Given the description of an element on the screen output the (x, y) to click on. 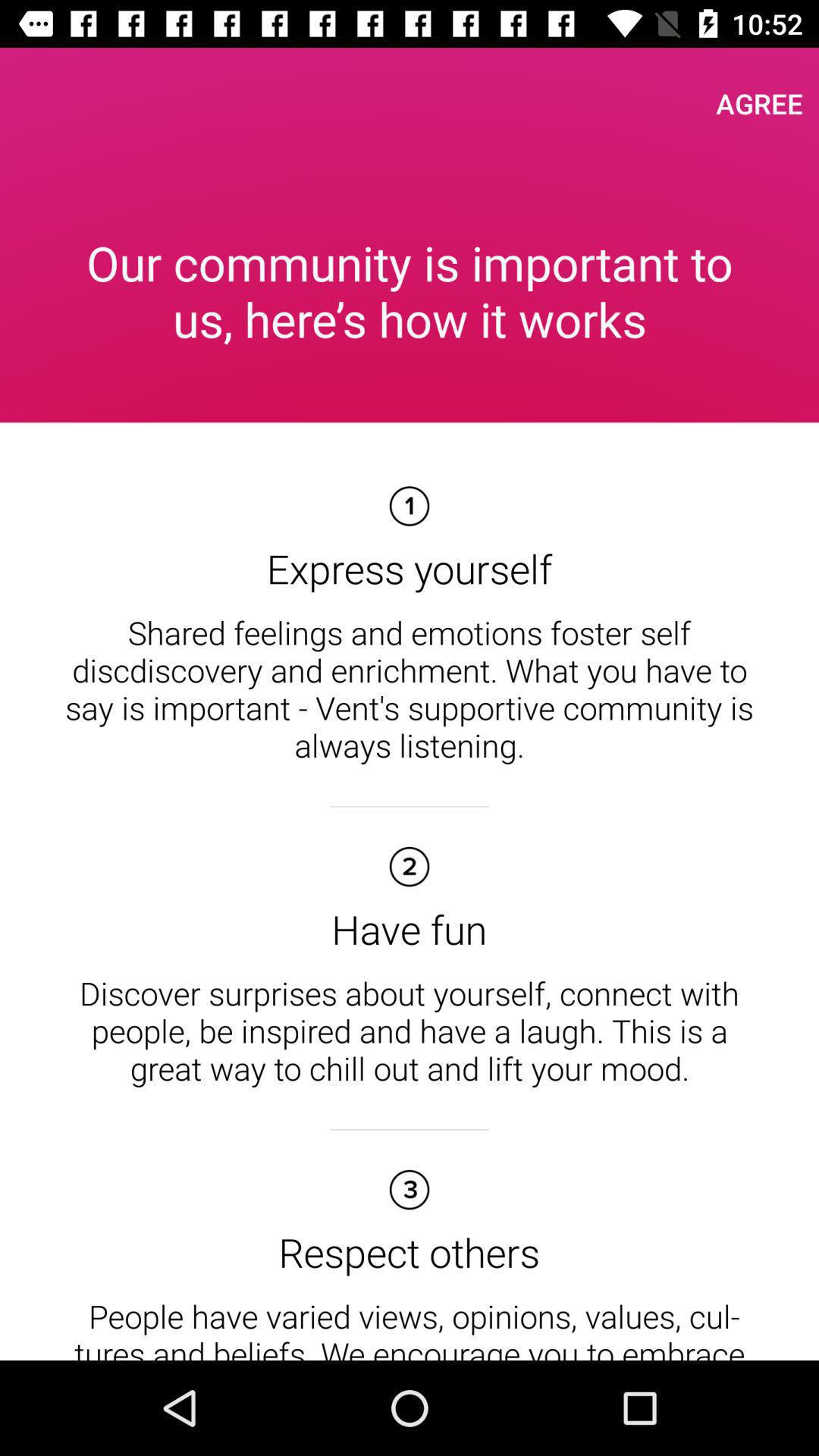
select the agree item (759, 103)
